Given the description of an element on the screen output the (x, y) to click on. 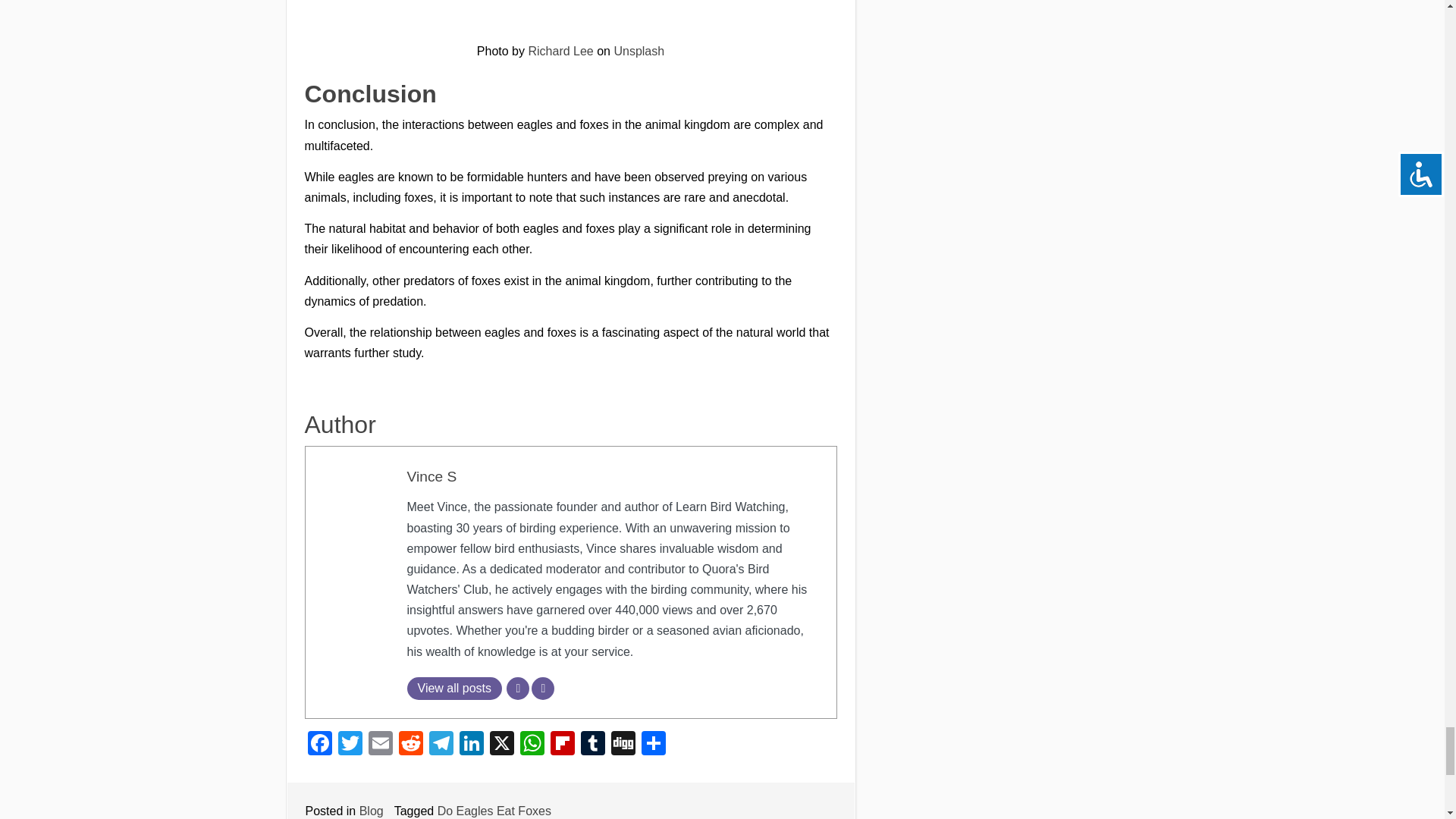
Flipboard (562, 745)
Reddit (411, 745)
Telegram (441, 745)
Tumblr (593, 745)
Digg (623, 745)
Twitter (349, 745)
Facebook (319, 745)
X (501, 745)
Vince S (431, 476)
LinkedIn (471, 745)
